Given the description of an element on the screen output the (x, y) to click on. 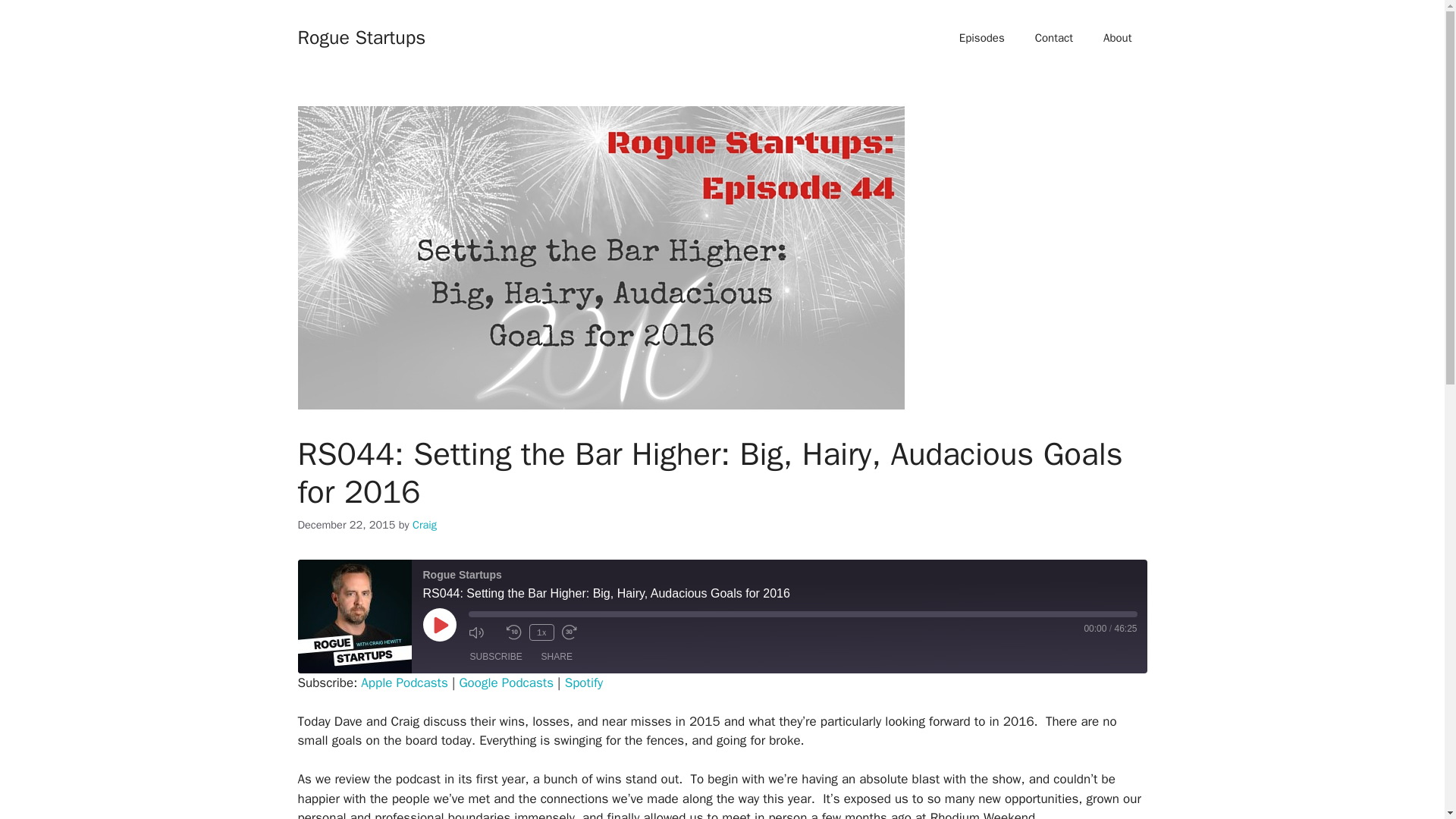
Play (440, 624)
Rewind 10 Seconds (513, 631)
About (1117, 37)
Playback Speed (541, 632)
Share (556, 656)
Rewind 10 seconds (513, 631)
Play Episode (440, 624)
Craig (424, 524)
Rogue Startups (361, 37)
